Given the description of an element on the screen output the (x, y) to click on. 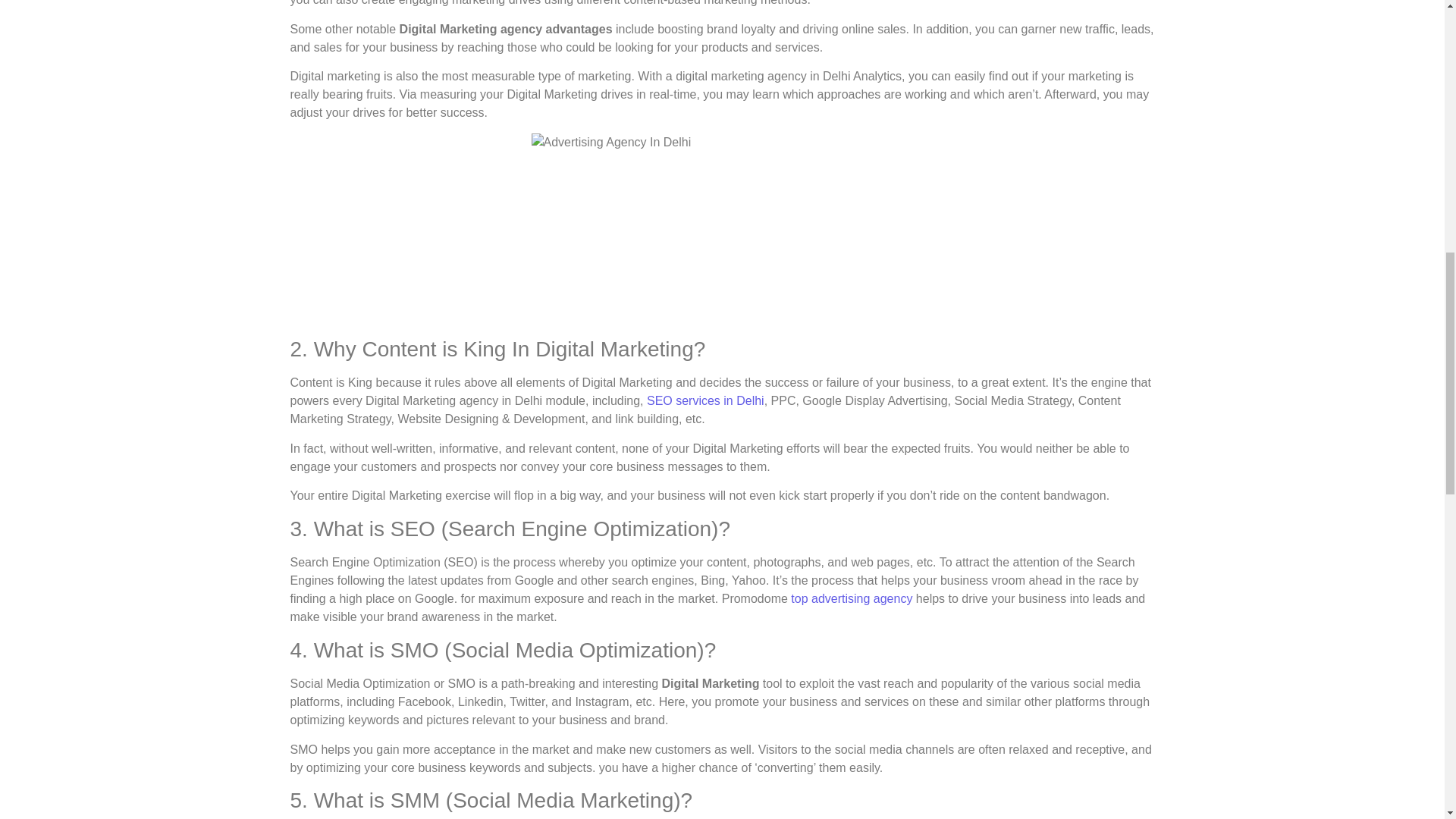
SEO services in Delhi (705, 400)
top advertising agency (851, 598)
